Given the description of an element on the screen output the (x, y) to click on. 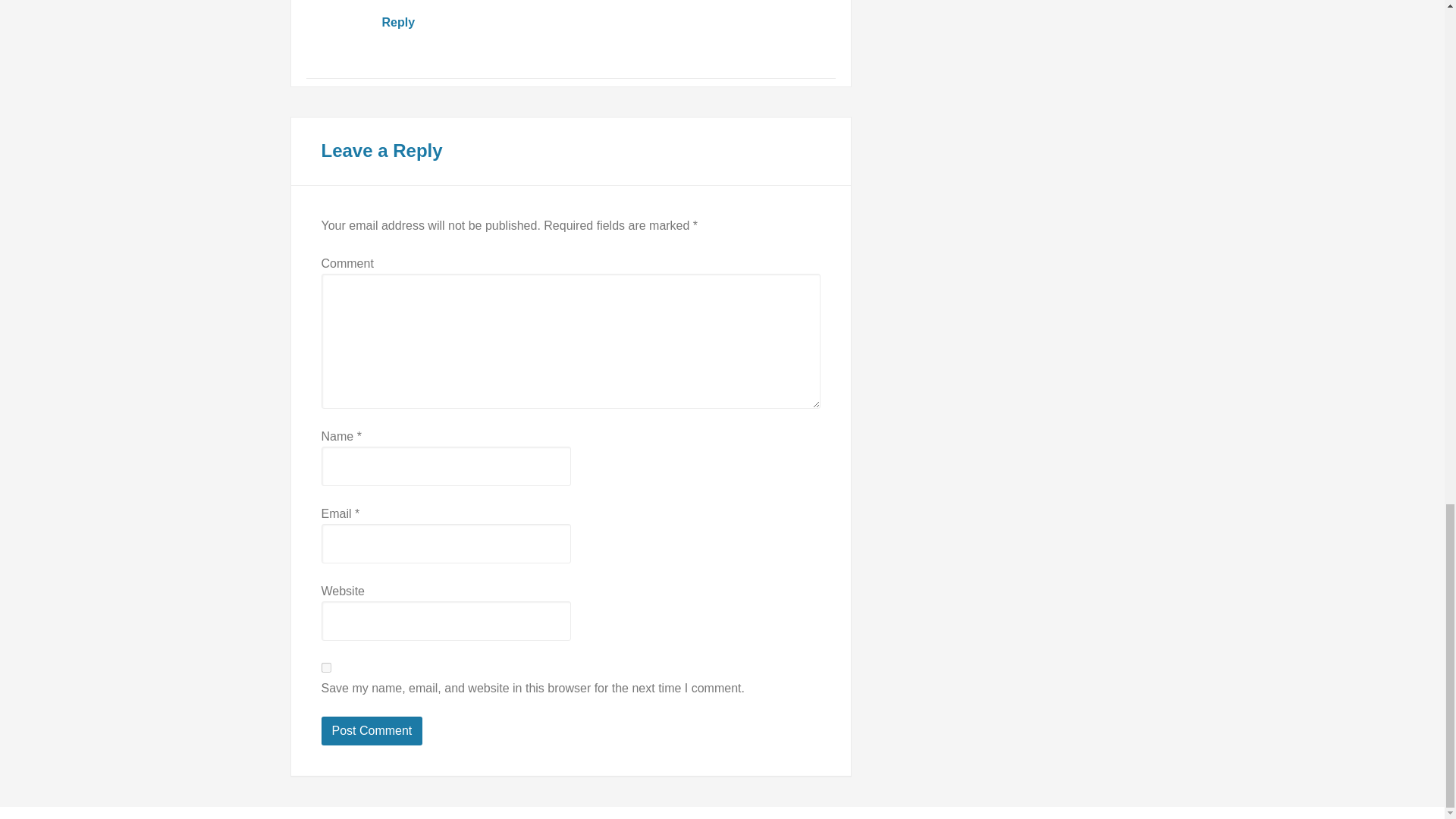
Post Comment (372, 730)
yes (326, 667)
